Given the description of an element on the screen output the (x, y) to click on. 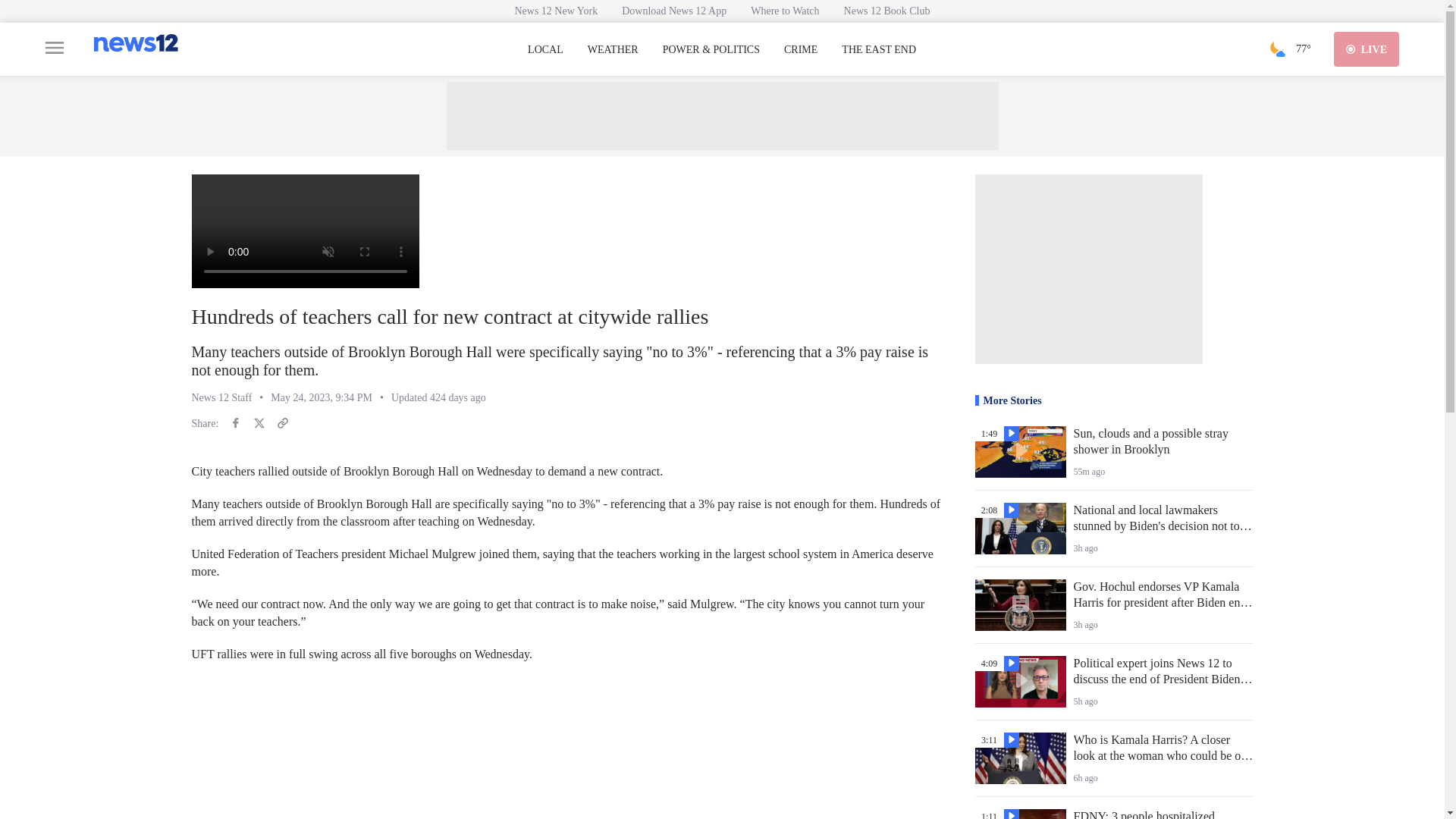
LIVE (1366, 48)
THE EAST END (878, 49)
Fair or Mostly Clear (1277, 48)
WEATHER (613, 49)
News 12 Book Club (886, 11)
News 12 New York (556, 11)
Where to Watch (784, 11)
Download News 12 App (673, 11)
CRIME (800, 49)
LOCAL (545, 49)
